Given the description of an element on the screen output the (x, y) to click on. 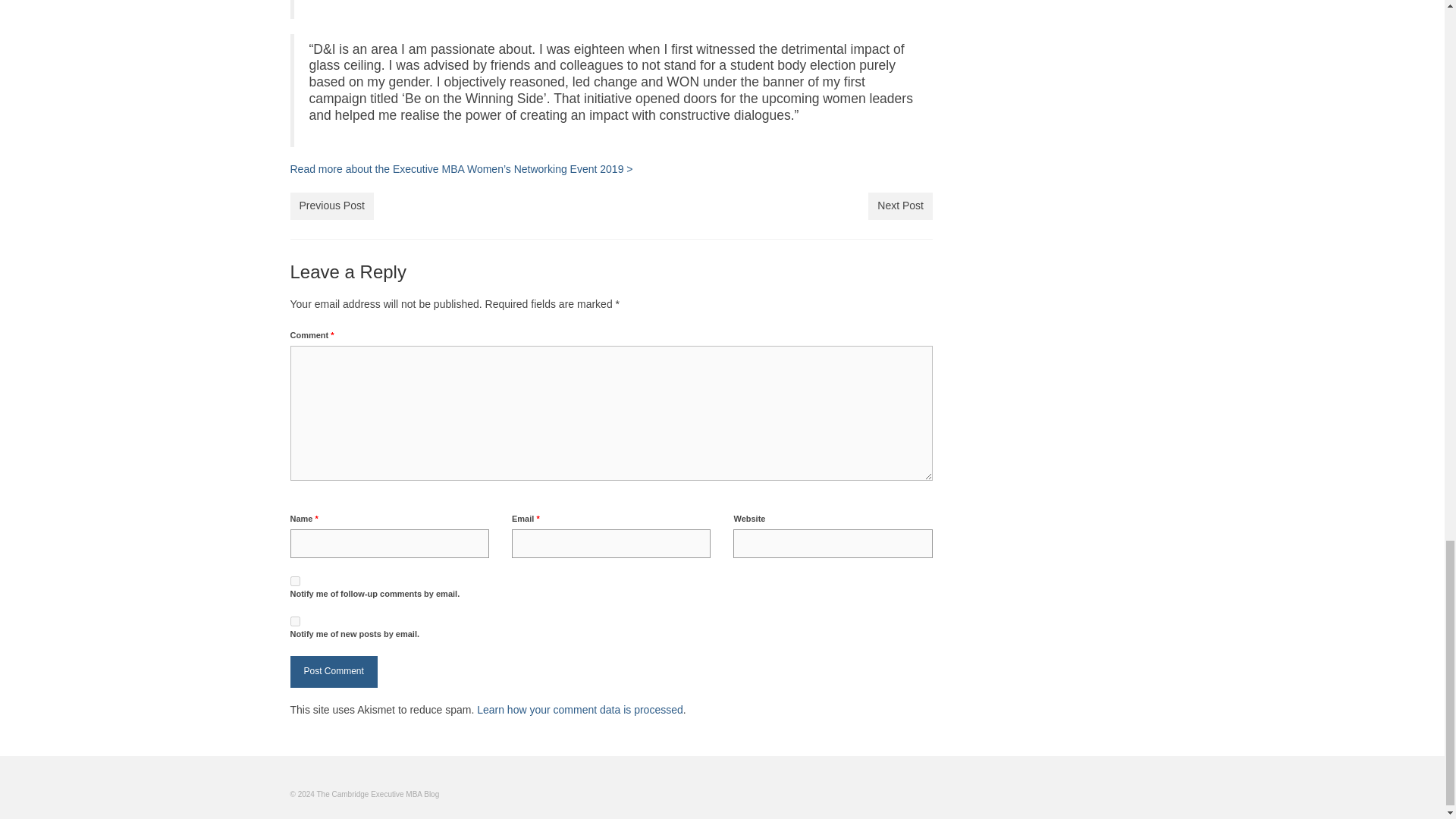
Learn how your comment data is processed (579, 709)
Post Comment (333, 671)
subscribe (294, 581)
Post Comment (333, 671)
Previous Post (330, 206)
subscribe (294, 620)
Next Post (900, 206)
